Given the description of an element on the screen output the (x, y) to click on. 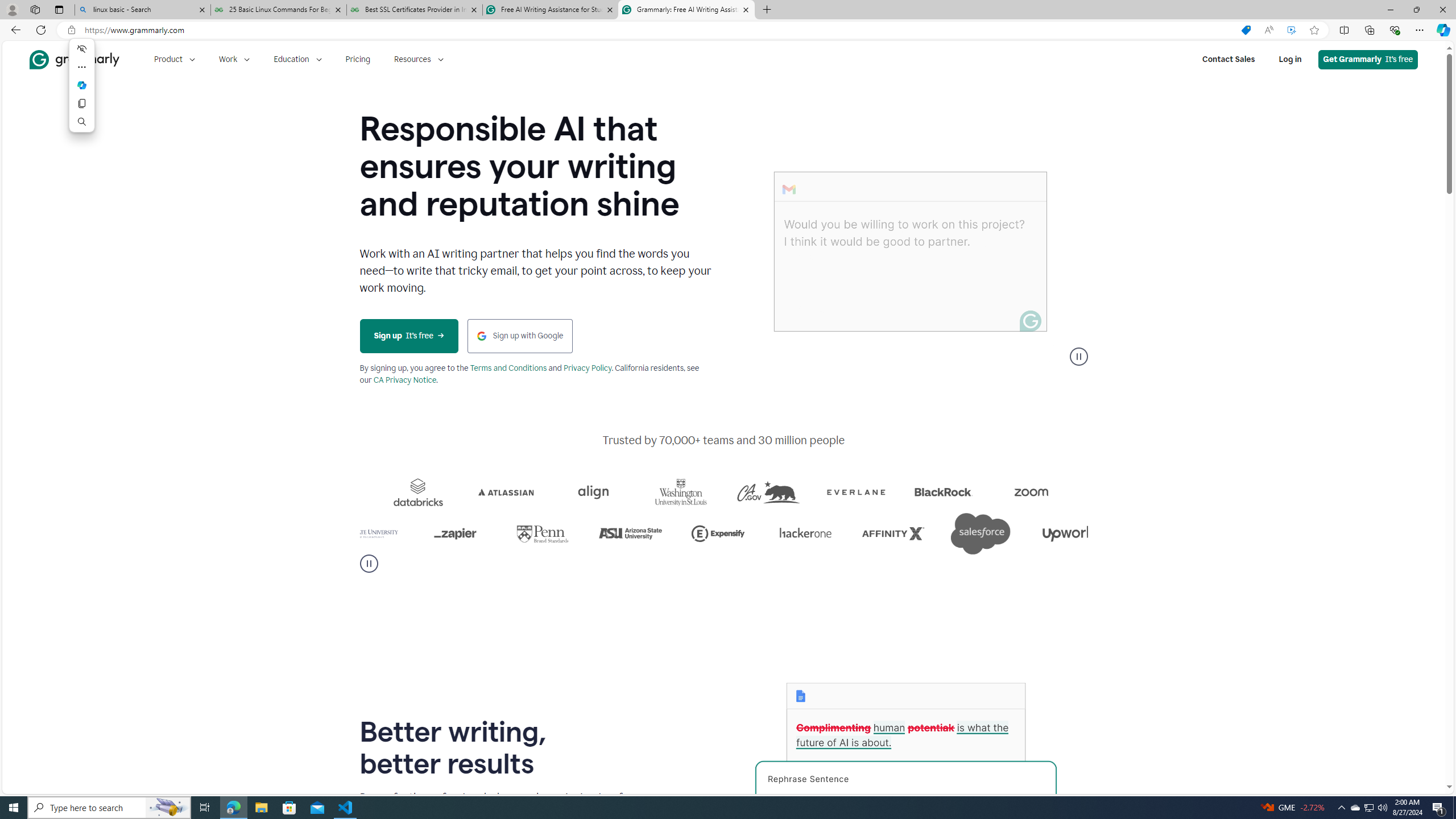
linux basic - Search (142, 9)
Everlane (981, 491)
Databricks (544, 491)
Expedia (466, 491)
Zapier (590, 533)
